Given the description of an element on the screen output the (x, y) to click on. 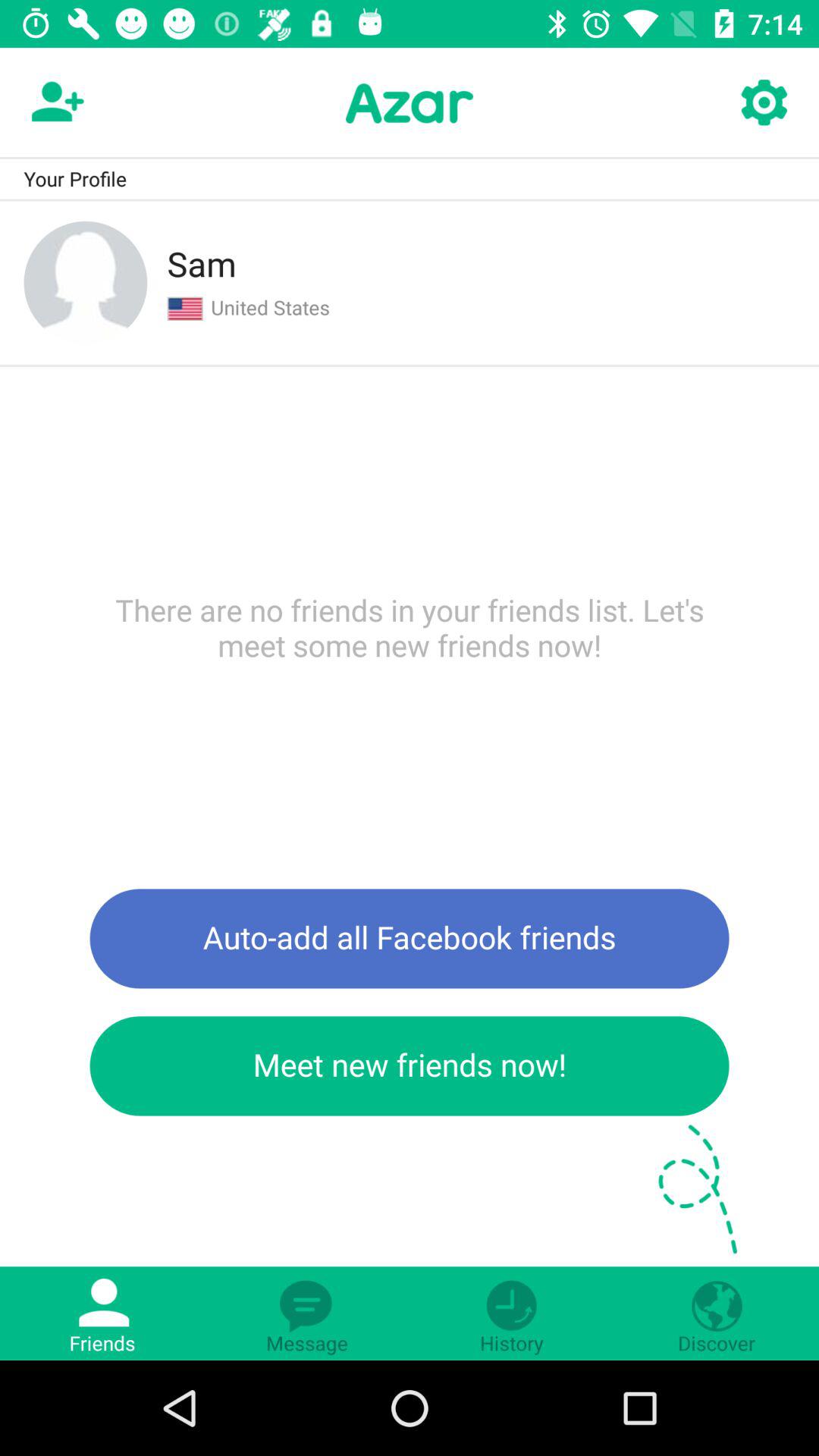
press the auto add all item (409, 938)
